Given the description of an element on the screen output the (x, y) to click on. 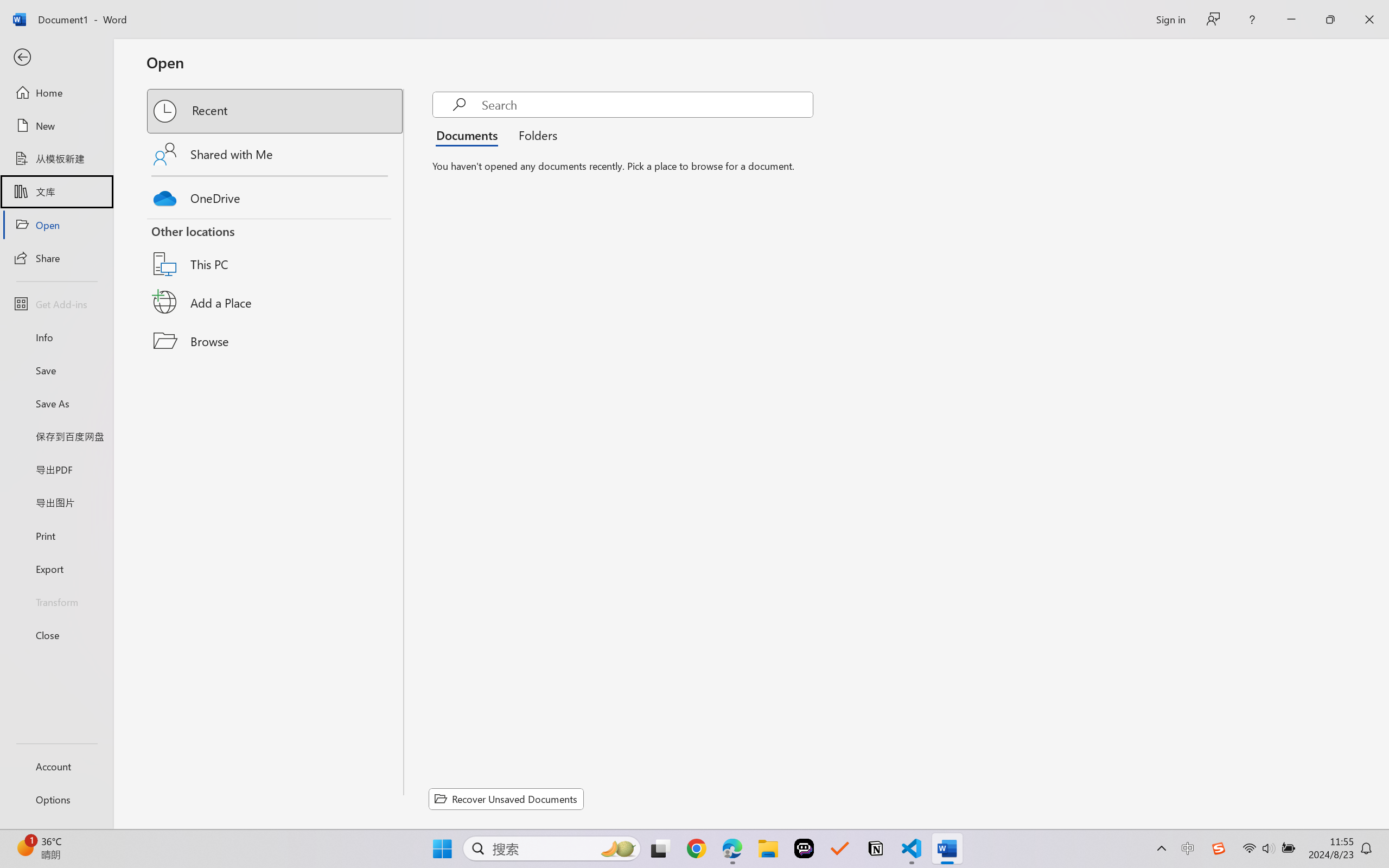
Account (56, 765)
Sign in (1170, 18)
This PC (275, 249)
Options (56, 798)
